Given the description of an element on the screen output the (x, y) to click on. 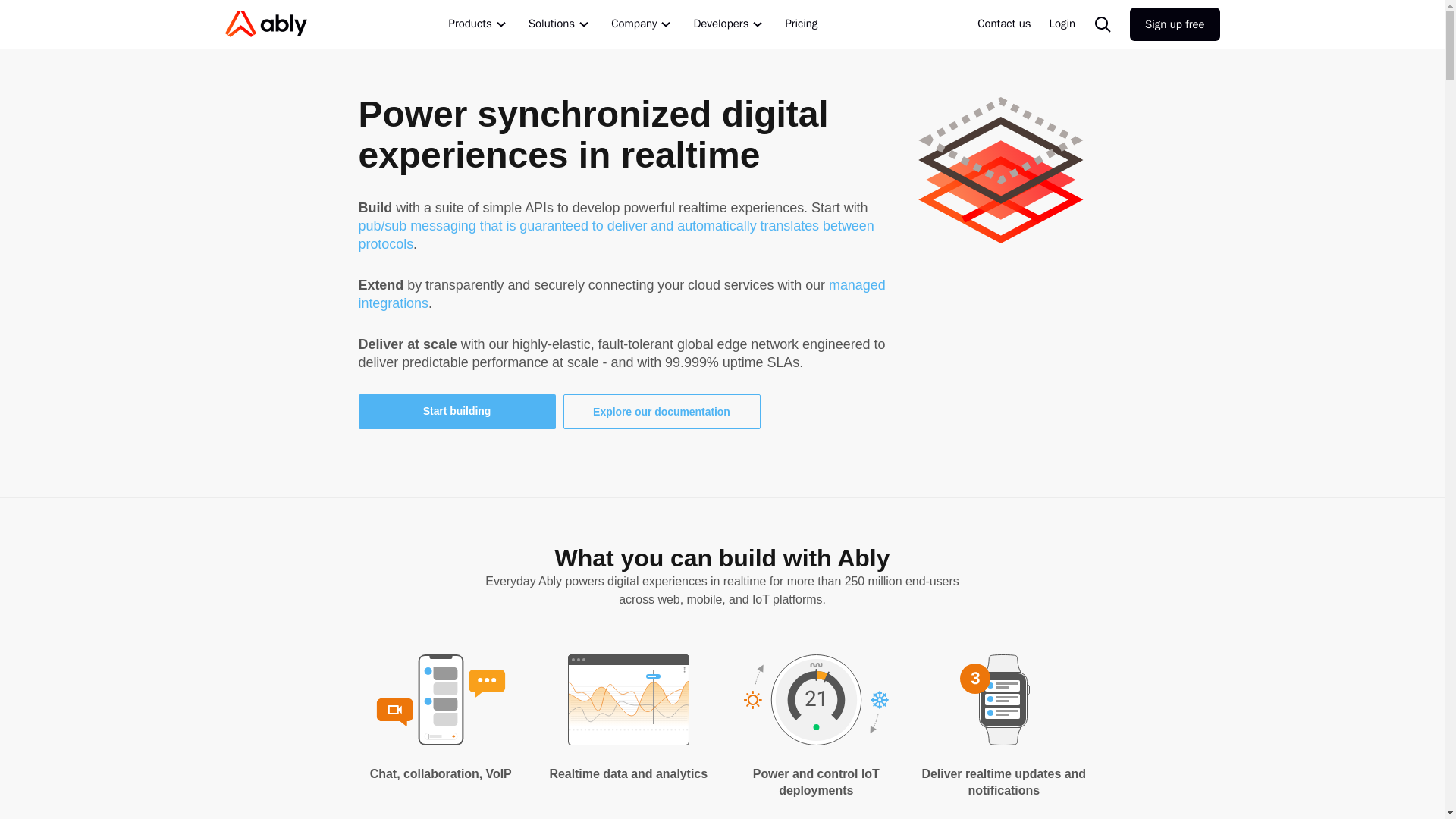
Company (643, 24)
Solutions (560, 24)
Products (479, 24)
